Given the description of an element on the screen output the (x, y) to click on. 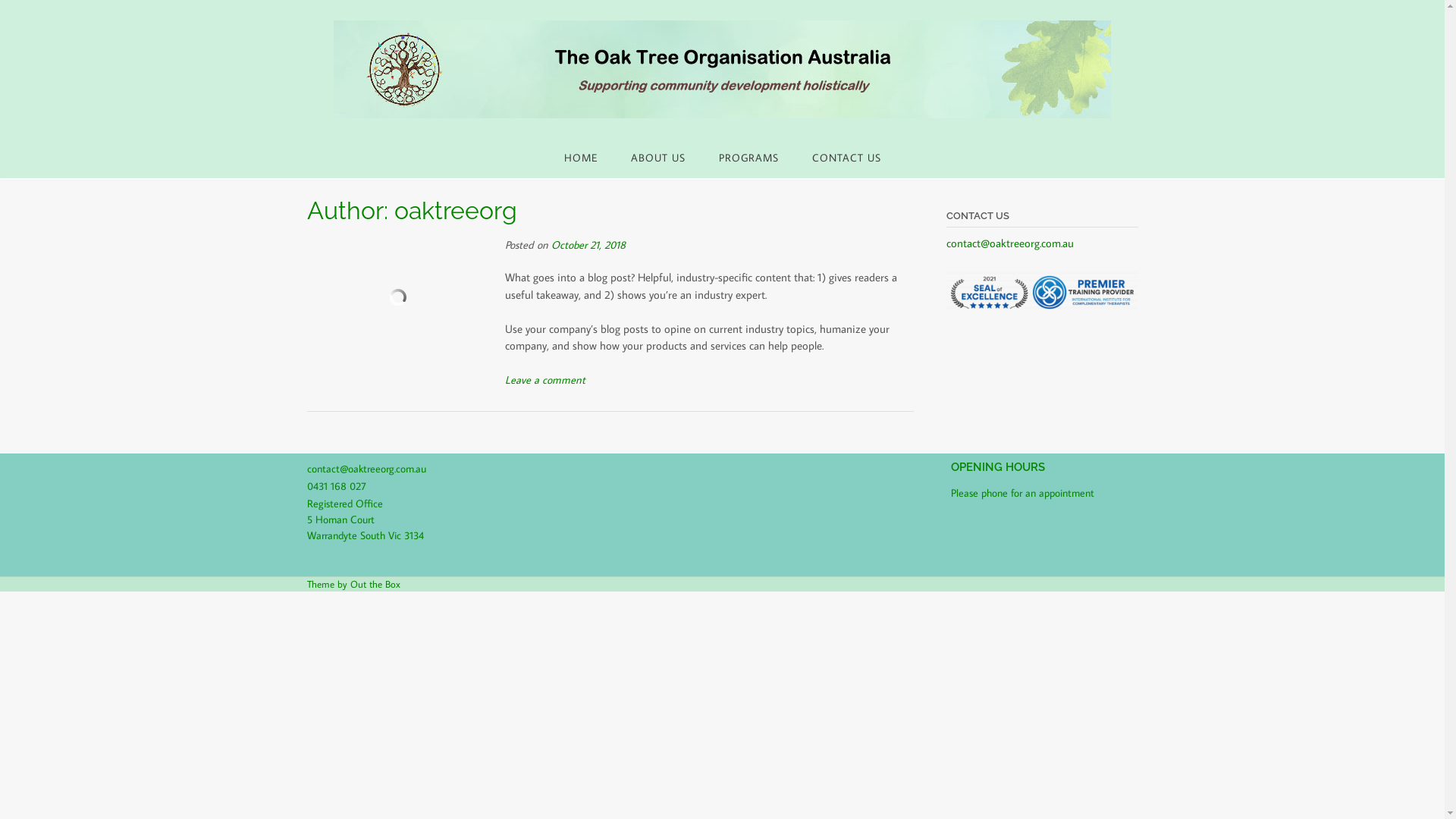
HOME Element type: text (580, 156)
contact@oaktreeorg.com.au Element type: text (365, 468)
CONTACT US Element type: text (845, 156)
PROGRAMS Element type: text (748, 156)
October 21, 2018 Element type: text (588, 244)
Leave a comment Element type: text (545, 379)
Out the Box Element type: text (375, 583)
contact@oaktreeorg.com.au Element type: text (1009, 242)
ABOUT US Element type: text (658, 156)
